Given the description of an element on the screen output the (x, y) to click on. 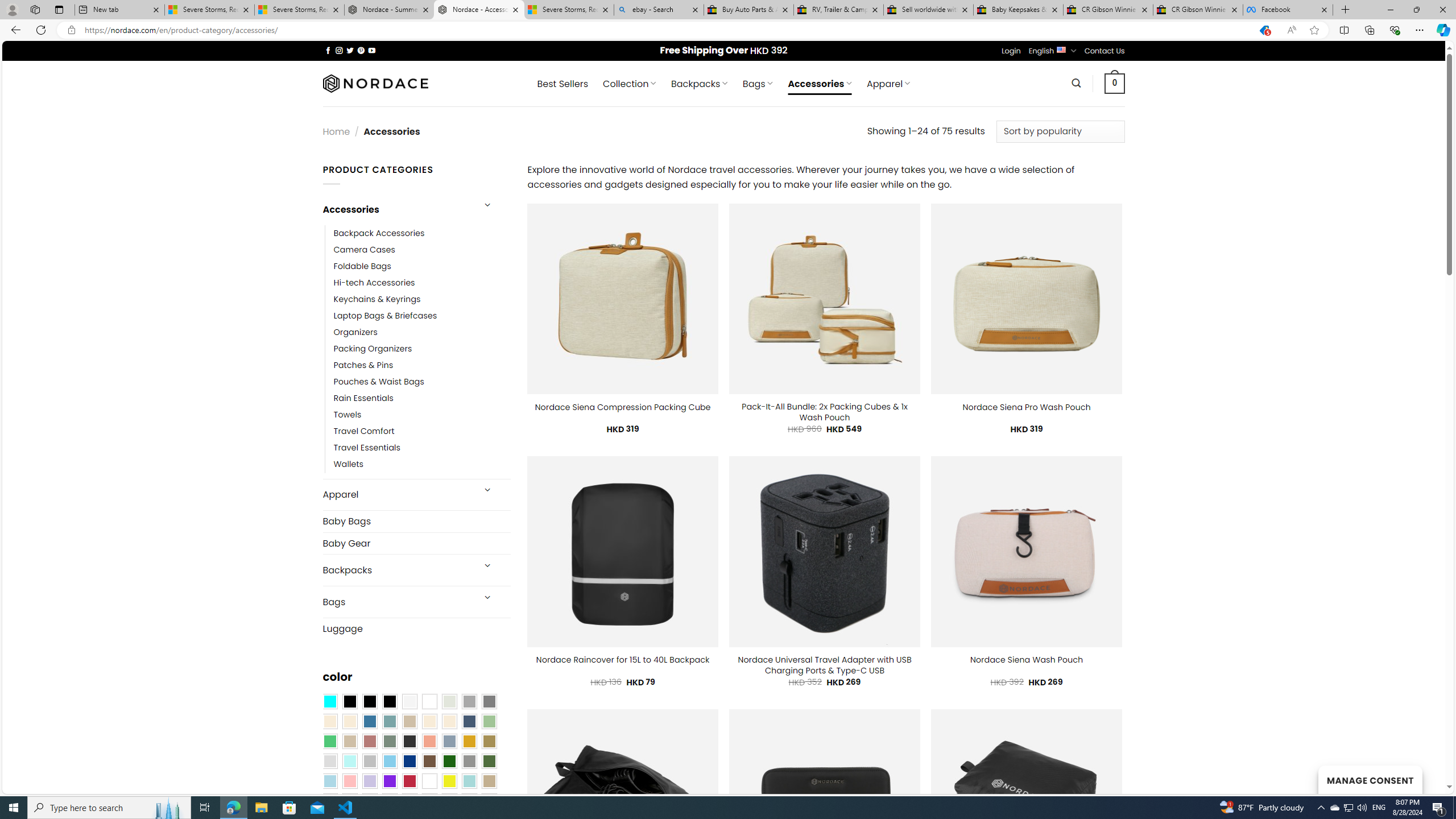
Baby Gear (416, 542)
Patches & Pins (422, 365)
Luggage (416, 628)
Login (1010, 50)
Red (408, 780)
App bar (728, 29)
Keychains & Keyrings (422, 298)
Clear (429, 701)
Dark Gray (468, 701)
Travel Comfort (422, 431)
Mint (349, 761)
